Given the description of an element on the screen output the (x, y) to click on. 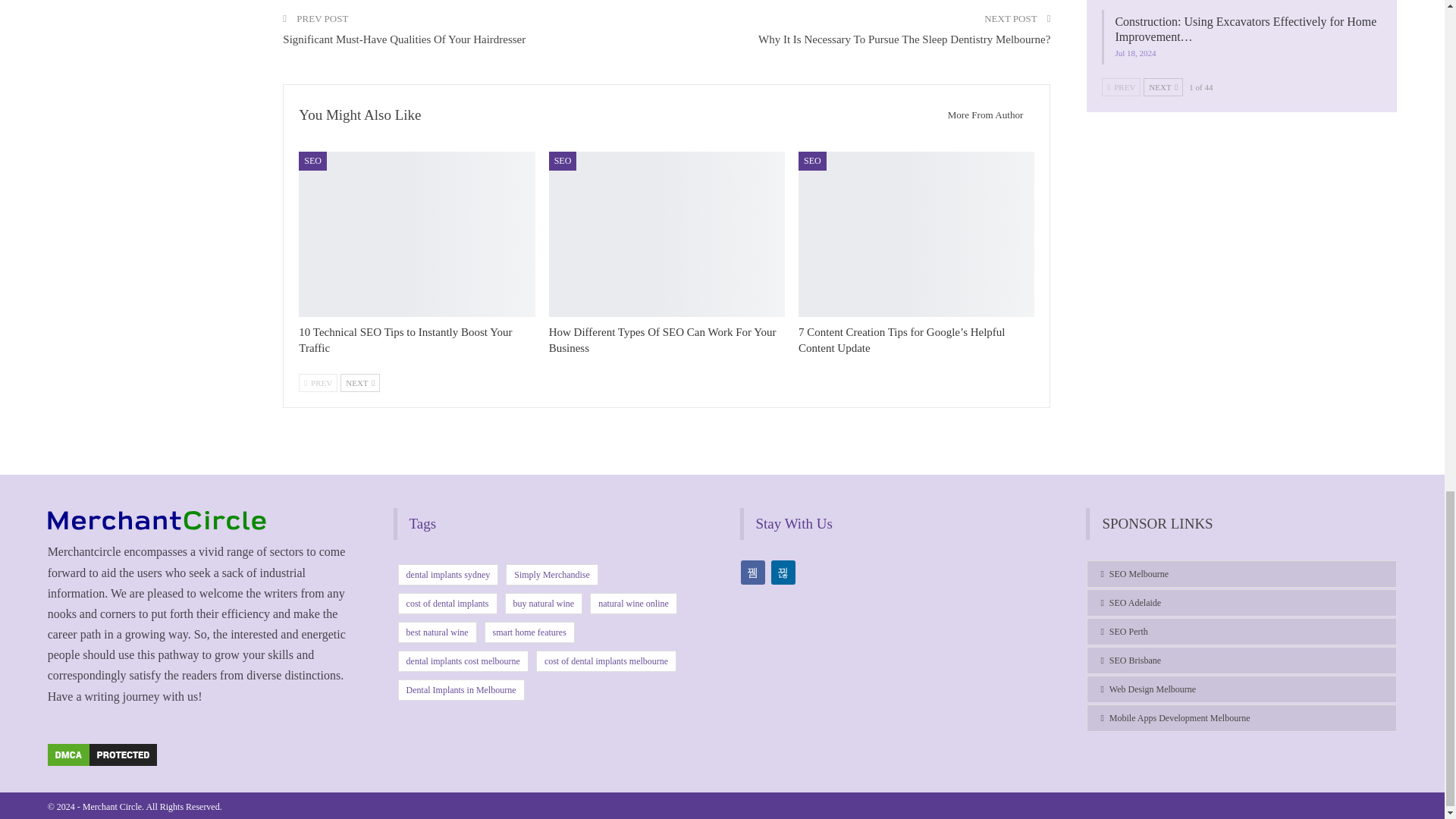
How Different Types Of SEO Can Work For Your Business (662, 339)
Significant Must-Have Qualities Of Your Hairdresser (403, 39)
More From Author (981, 114)
10 Technical SEO Tips to Instantly Boost Your Traffic (405, 339)
SEO (312, 160)
You Might Also Like (359, 115)
SEO (562, 160)
Why It Is Necessary To Pursue The Sleep Dentistry Melbourne? (903, 39)
